Given the description of an element on the screen output the (x, y) to click on. 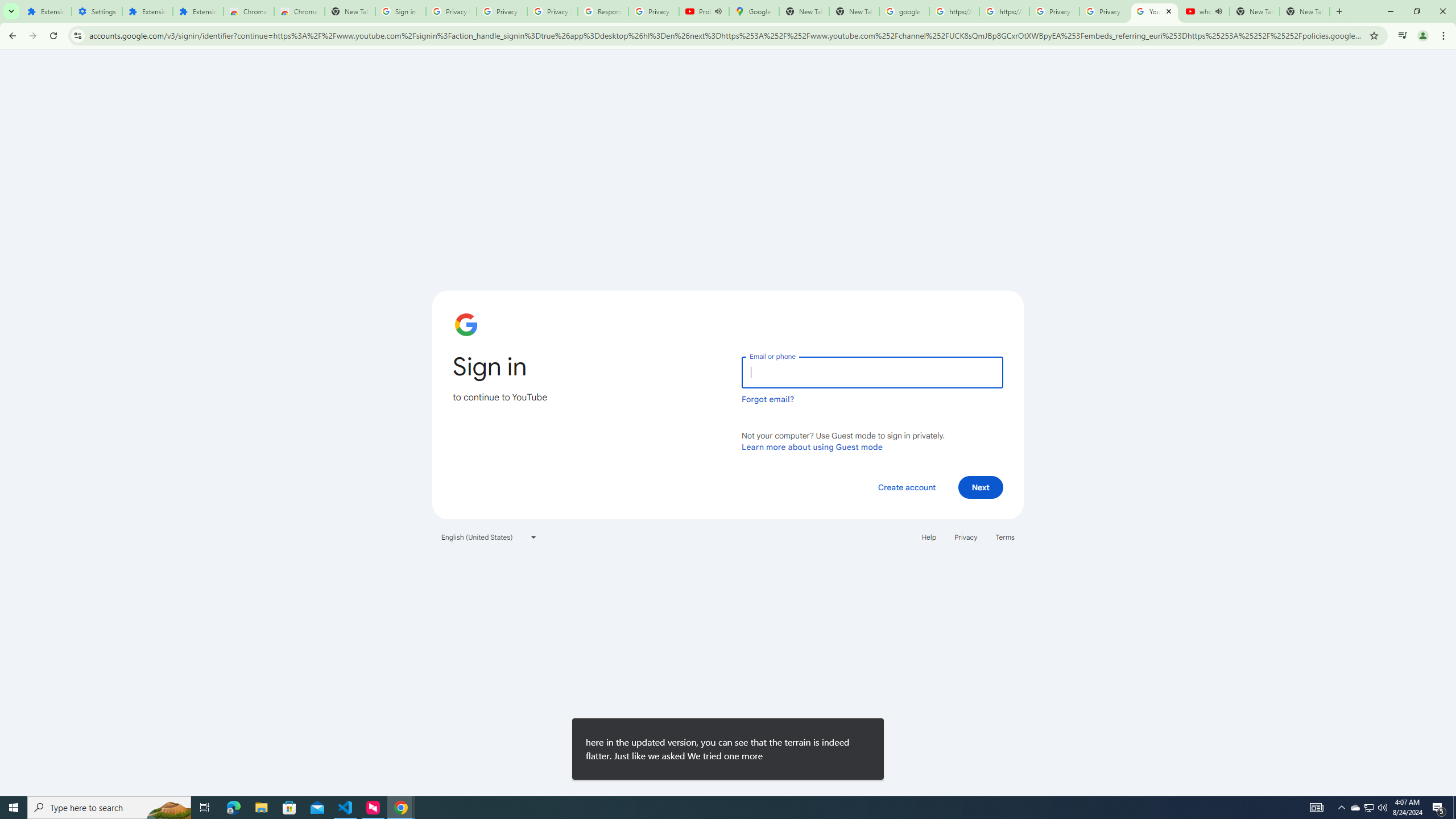
Sign in - Google Accounts (399, 11)
Chrome Web Store (248, 11)
